Given the description of an element on the screen output the (x, y) to click on. 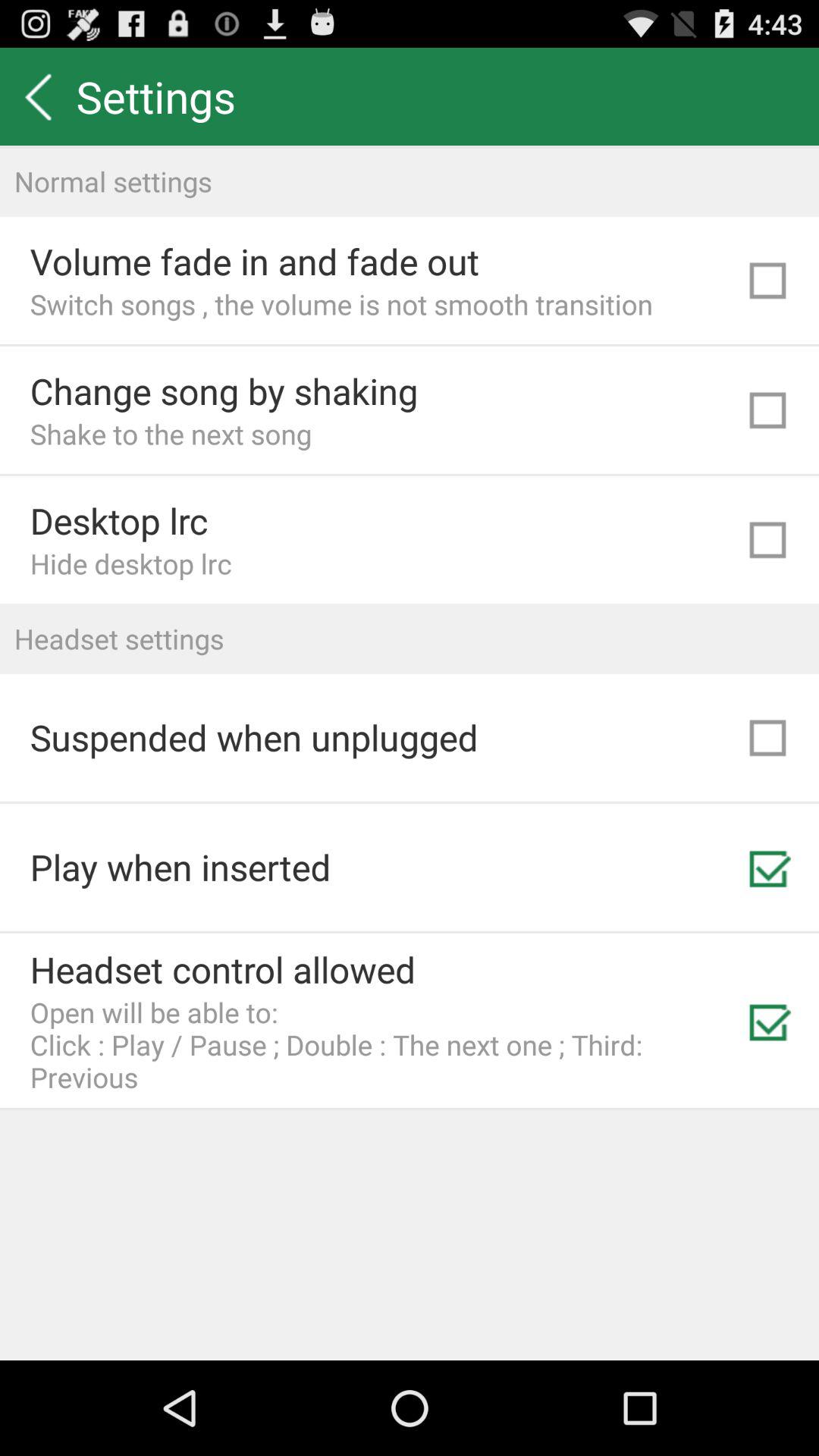
tap switch songs the item (341, 304)
